Given the description of an element on the screen output the (x, y) to click on. 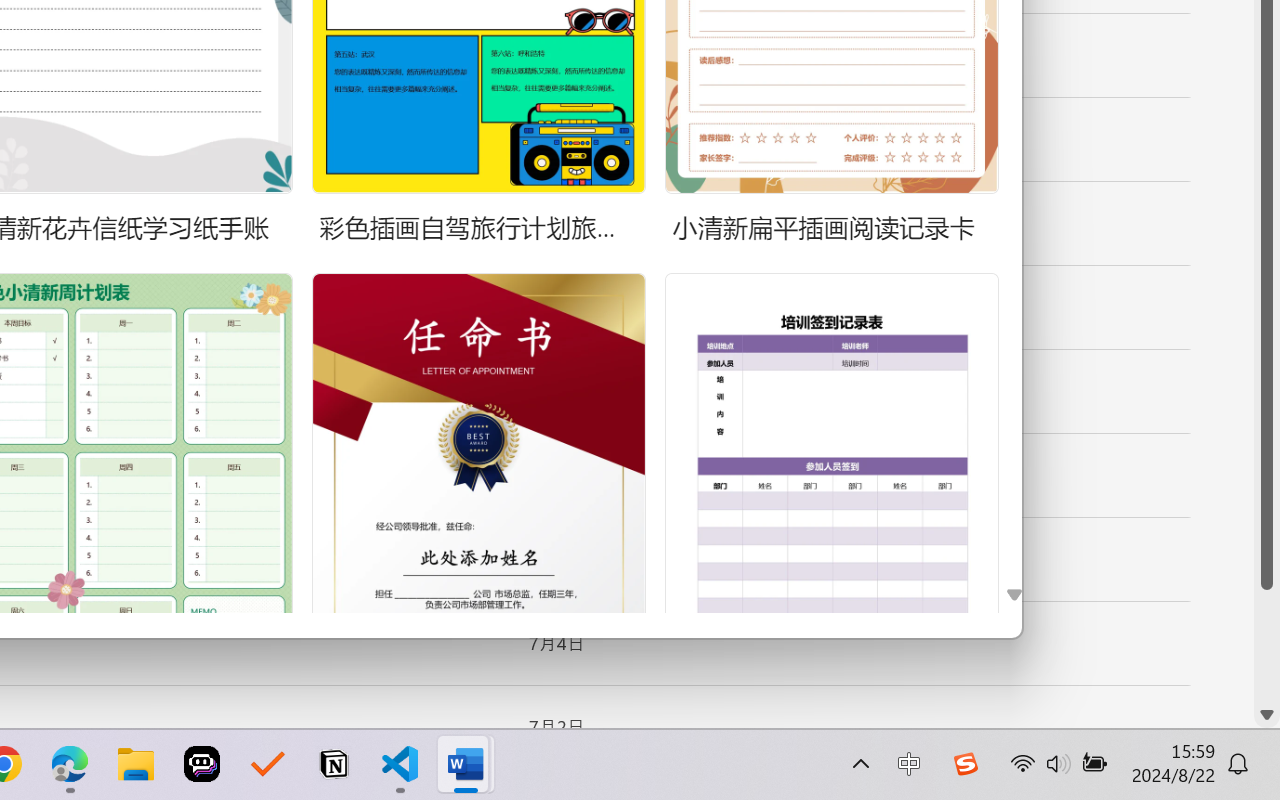
openinnewwindow (1060, 644)
